Given the description of an element on the screen output the (x, y) to click on. 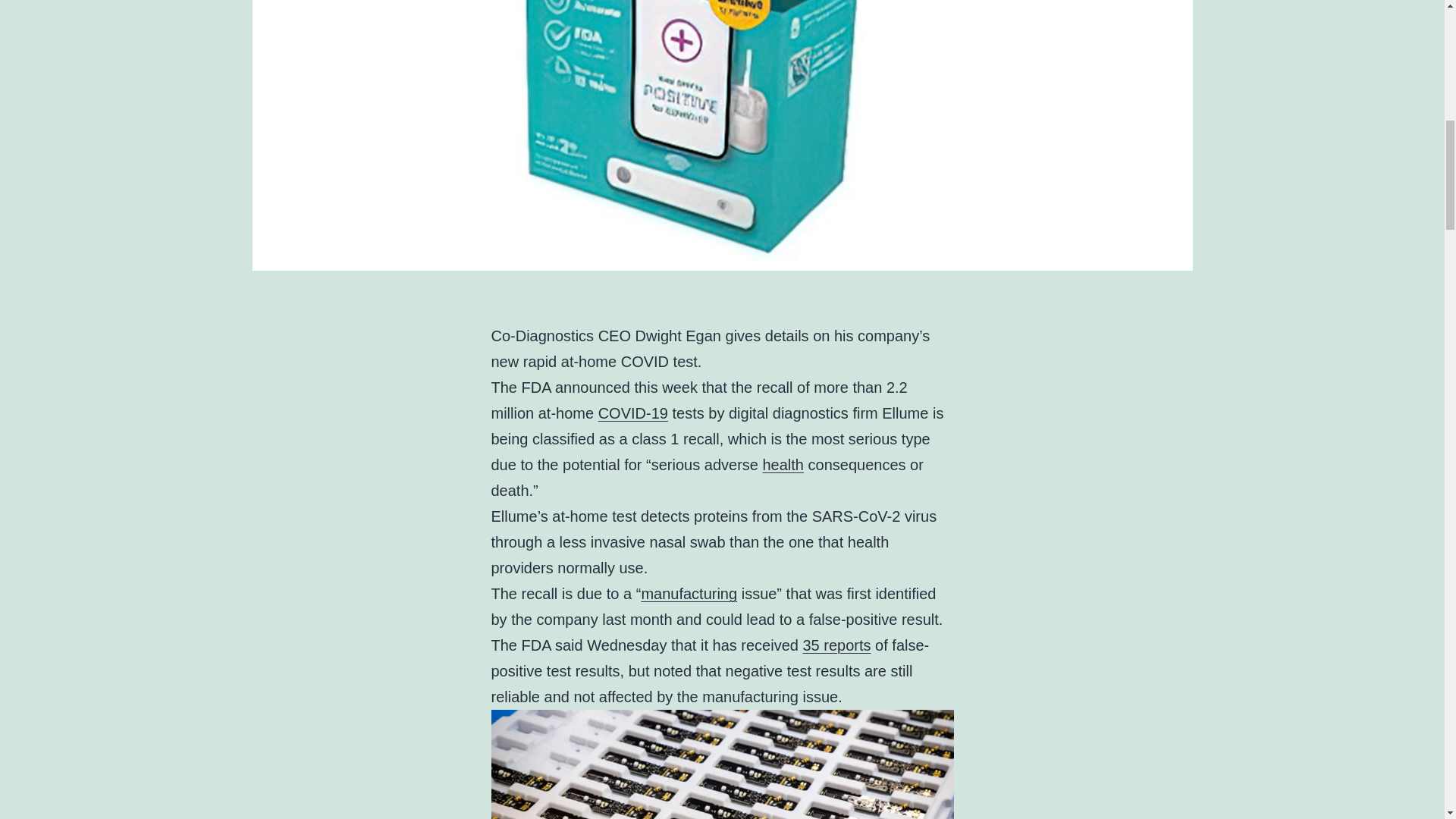
COVID-19 (633, 412)
manufacturing (688, 593)
35 reports (836, 645)
health (783, 464)
